Given the description of an element on the screen output the (x, y) to click on. 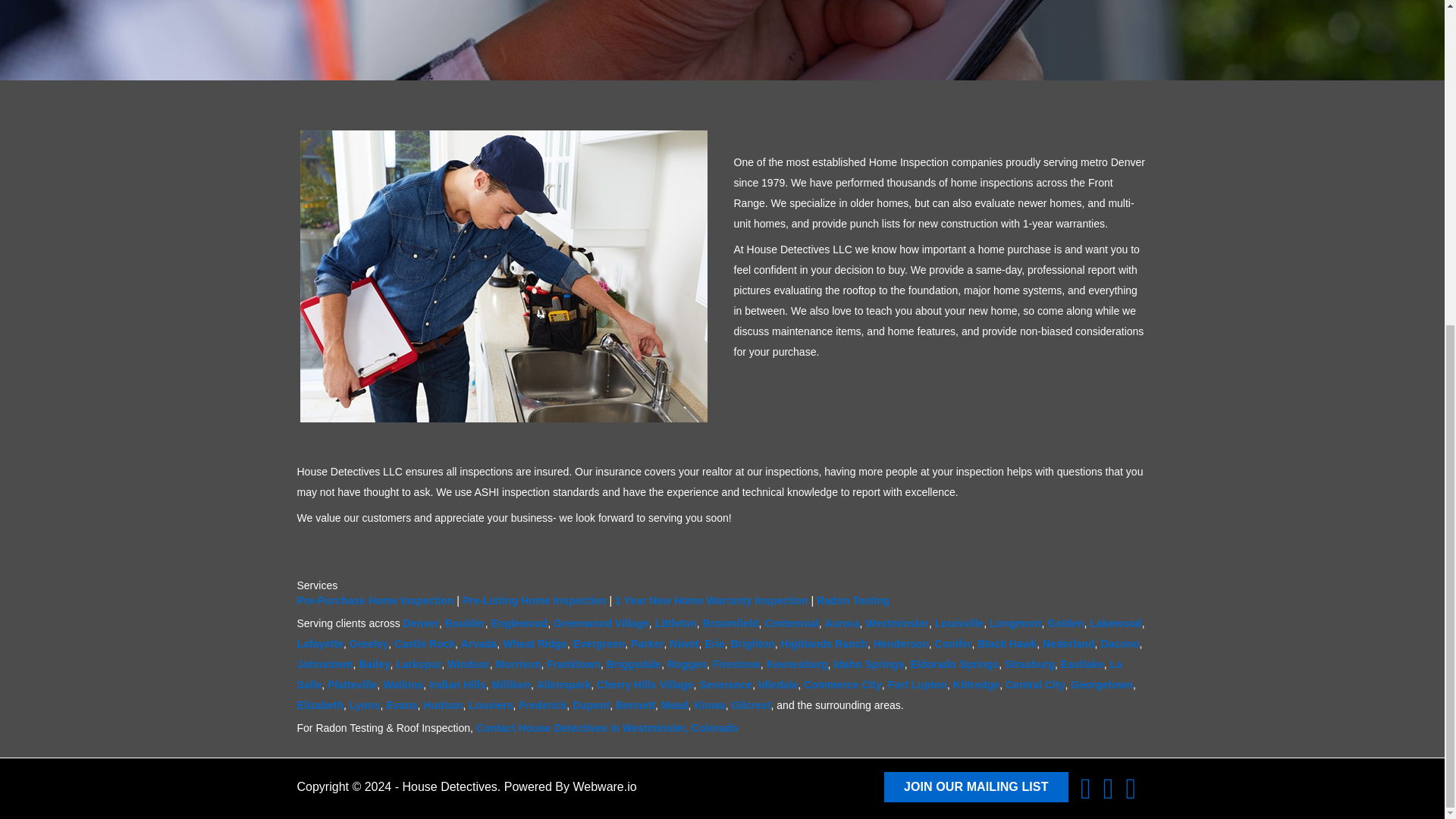
Aurora (842, 623)
Lakewood (1115, 623)
Greeley (368, 644)
Denver (421, 623)
Broomfield (729, 623)
Longmont (1015, 623)
Radon Testing (852, 600)
Centennial (791, 623)
Louisville (959, 623)
Arvada (478, 644)
Boulder (464, 623)
Littleton (676, 623)
Wheat Ridge (534, 644)
Golden (1064, 623)
Englewood (518, 623)
